Given the description of an element on the screen output the (x, y) to click on. 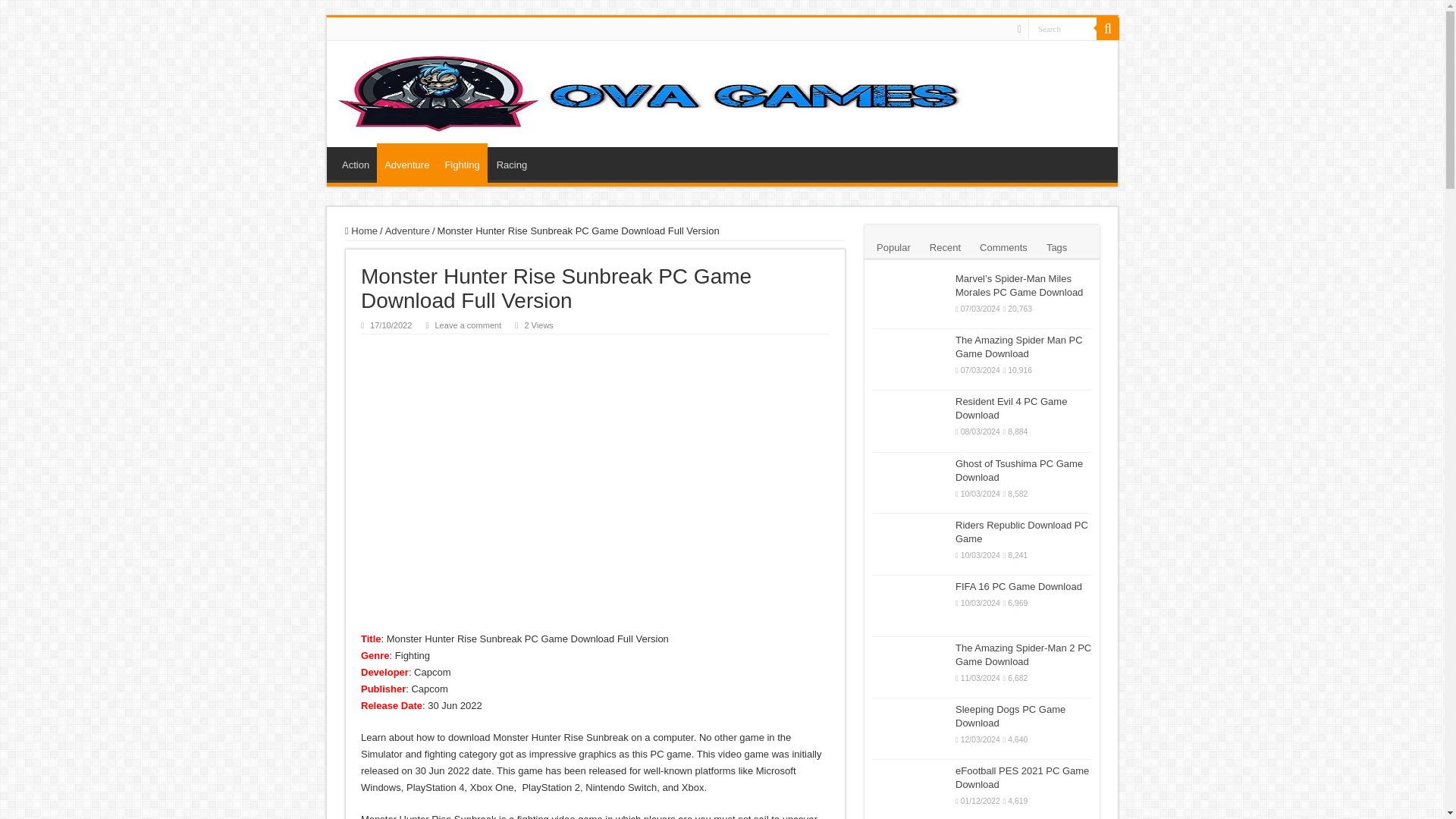
Home (361, 230)
Action (355, 163)
Adventure (406, 162)
Search (1061, 28)
Search (1061, 28)
Popular (893, 246)
Adventure (407, 230)
Search (1061, 28)
Leave a comment (466, 325)
Ova Games (651, 92)
Search (1107, 28)
Fighting (461, 162)
Racing (510, 163)
